Given the description of an element on the screen output the (x, y) to click on. 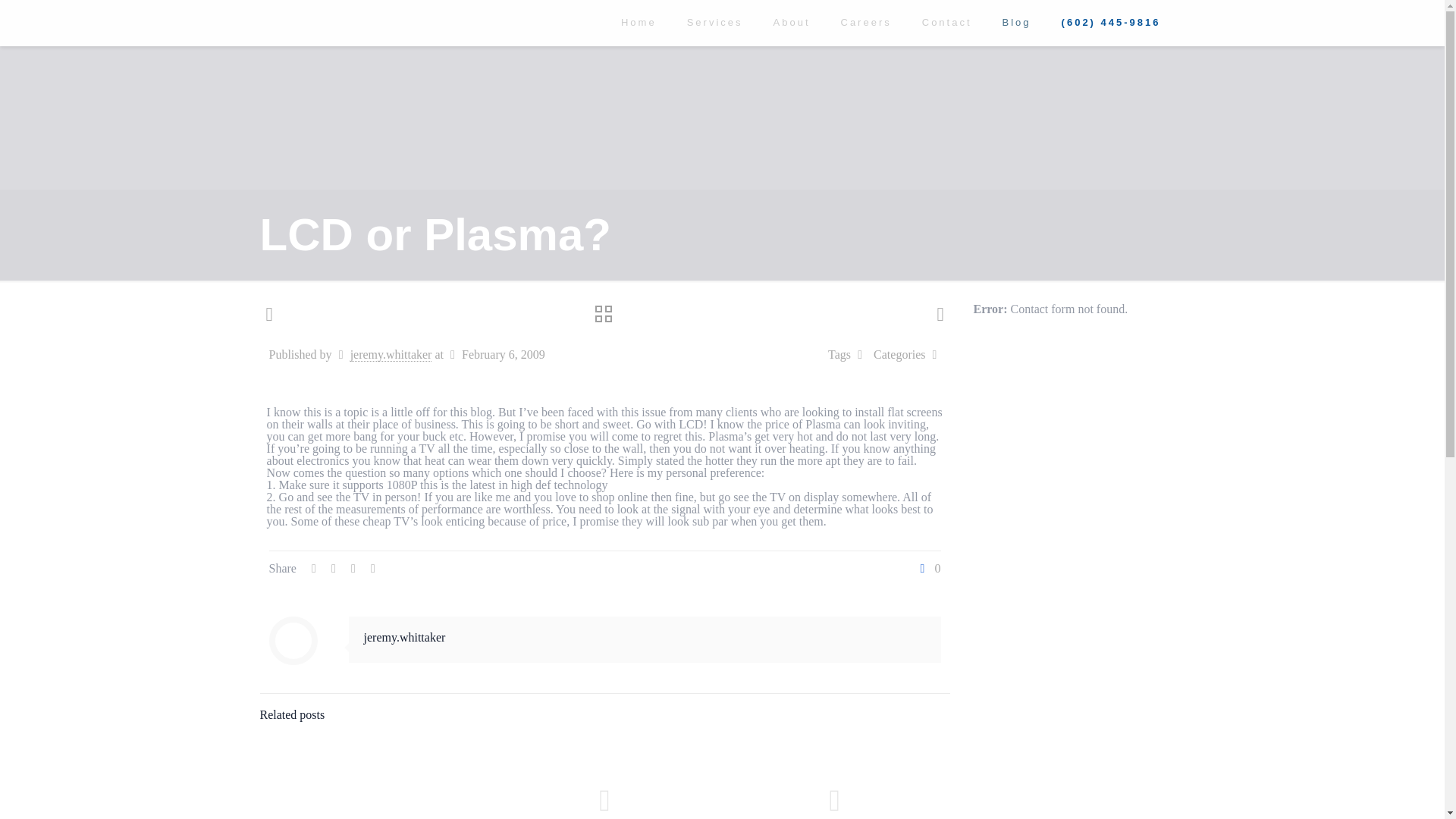
Contact (947, 22)
Blog (1016, 22)
Careers (865, 22)
About (791, 22)
Services (714, 22)
jeremy.whittaker (404, 636)
0 (927, 568)
Home (638, 22)
jeremy.whittaker (391, 354)
